Given the description of an element on the screen output the (x, y) to click on. 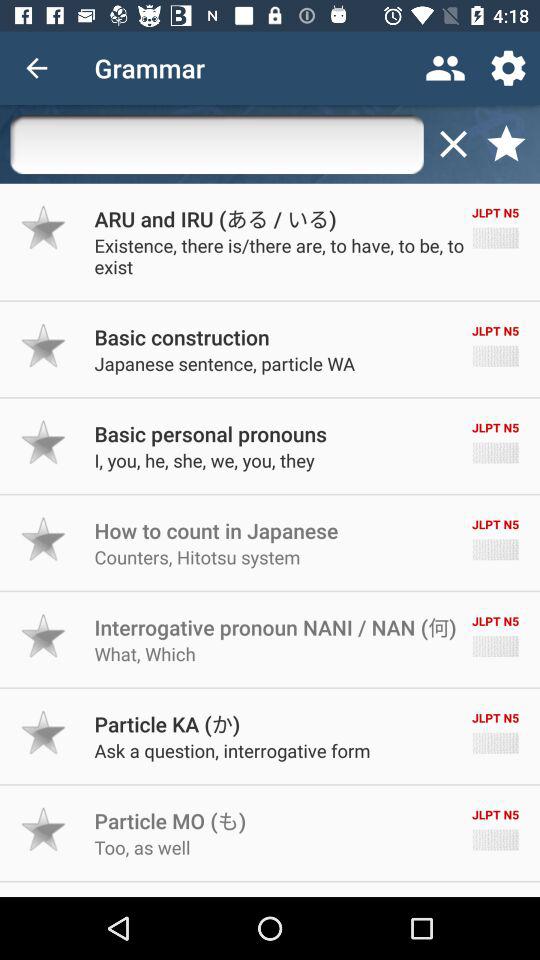
tap item below basic personal pronouns (204, 460)
